Given the description of an element on the screen output the (x, y) to click on. 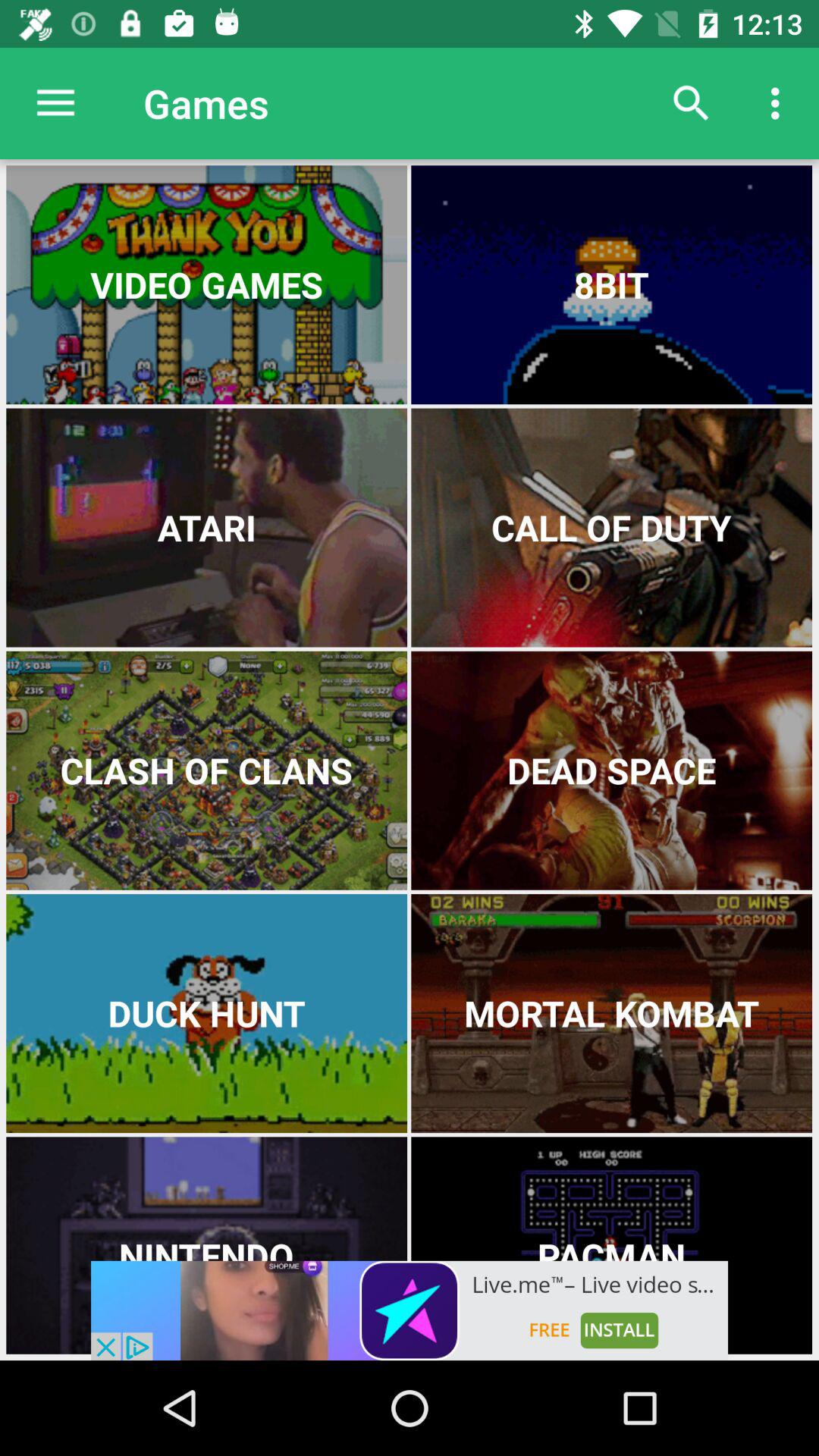
go to advertisement (409, 1310)
